Given the description of an element on the screen output the (x, y) to click on. 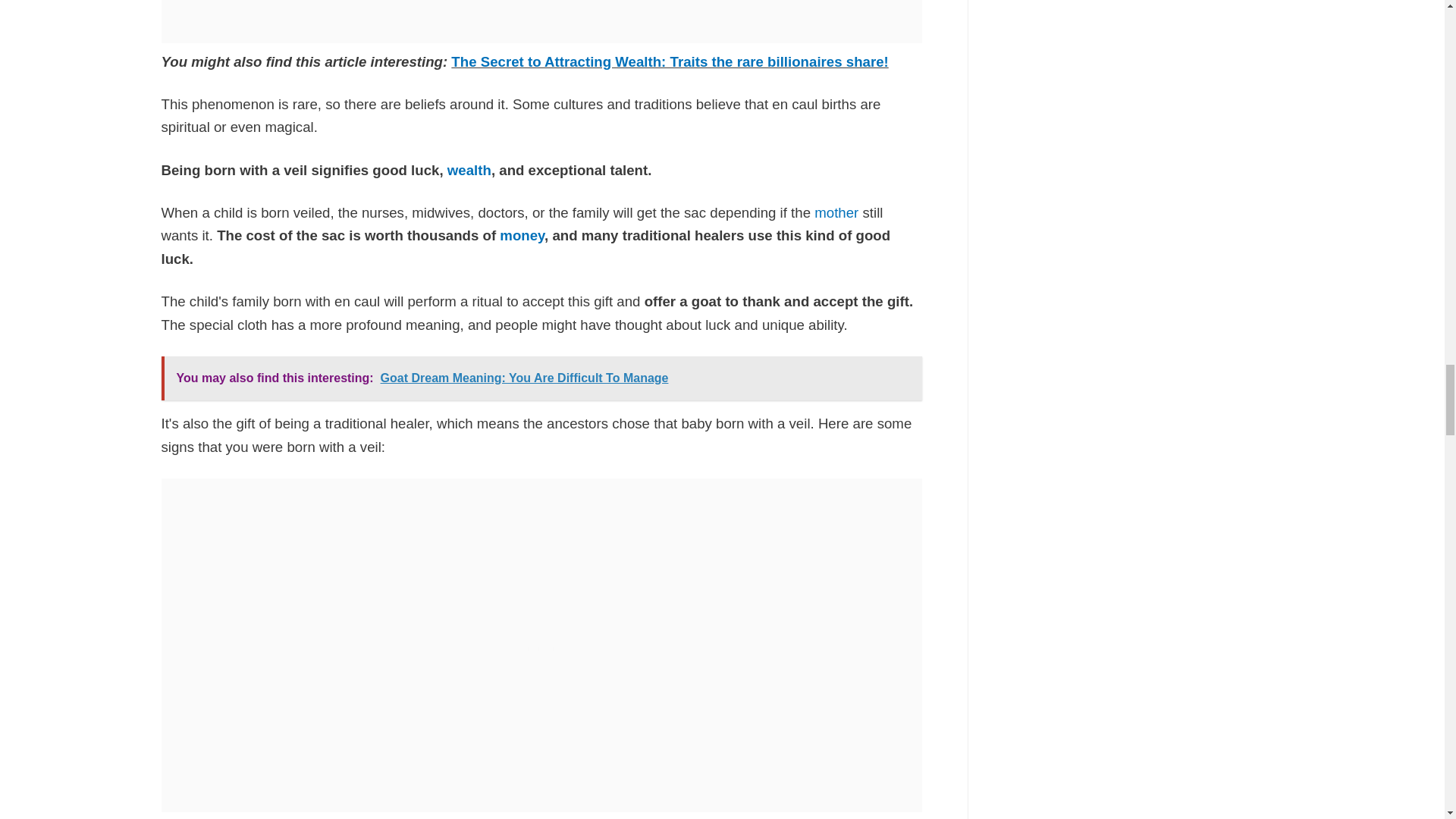
mother (836, 212)
wealth (469, 170)
